Given the description of an element on the screen output the (x, y) to click on. 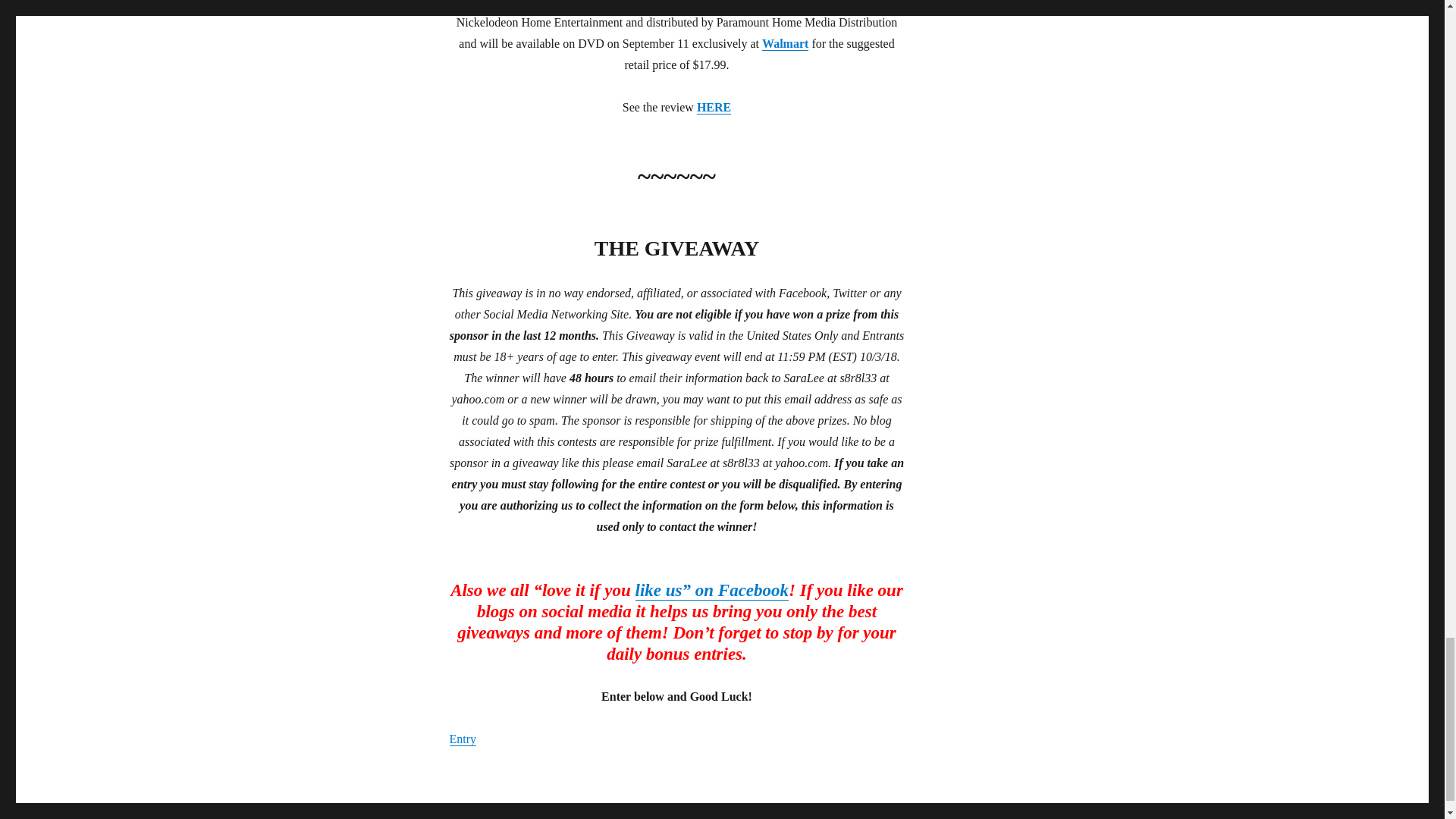
HERE (713, 106)
Walmart (784, 42)
Entry (462, 738)
